Given the description of an element on the screen output the (x, y) to click on. 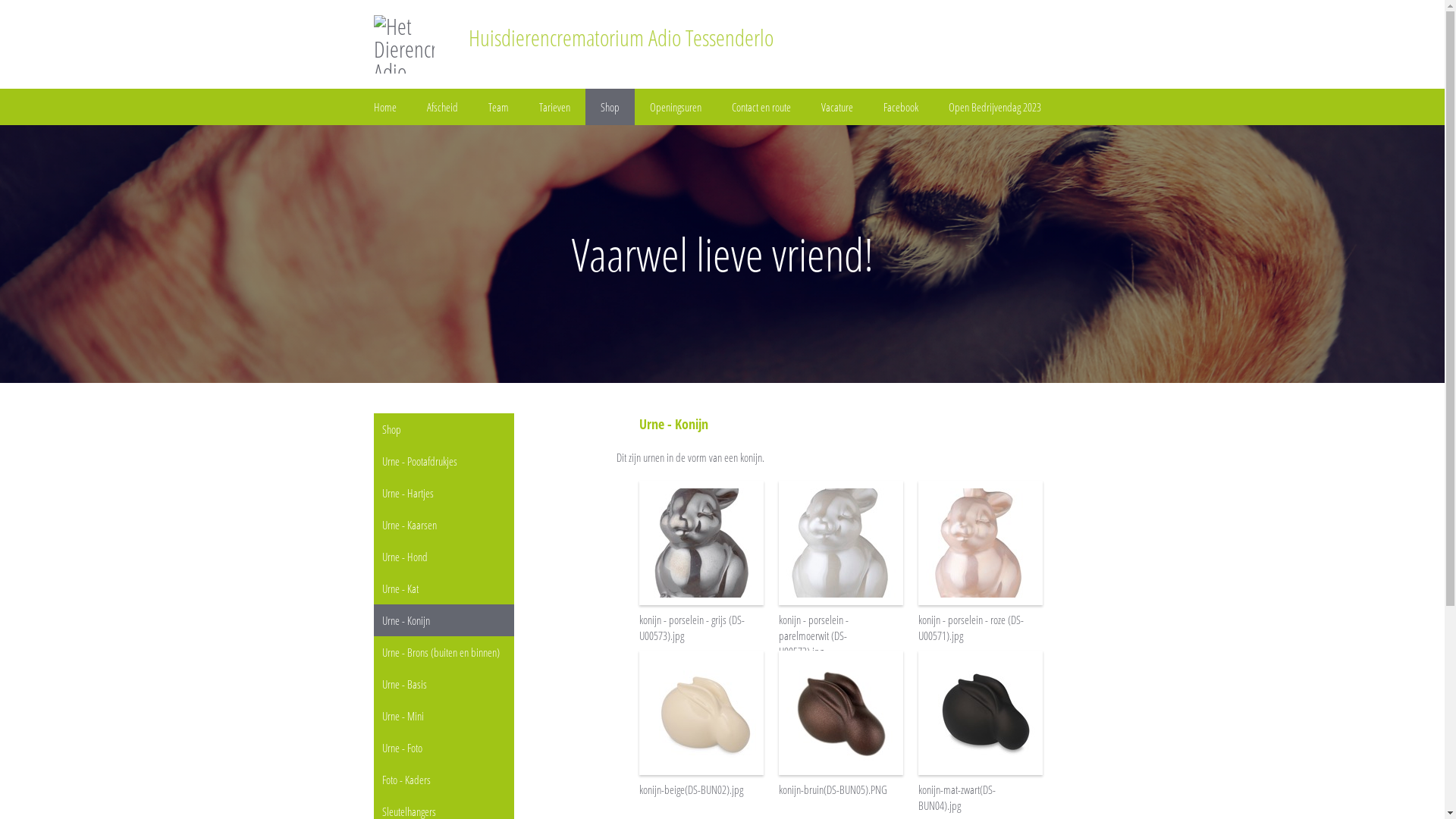
Urne - Pootafdrukjes Element type: text (443, 460)
Contact en route Element type: text (760, 106)
Urne - Hond Element type: text (443, 556)
Huisdierencrematorium Adio Tessenderlo Element type: text (602, 37)
Urne - Mini Element type: text (443, 715)
Urne - Foto Element type: text (443, 747)
Afscheid Element type: text (441, 106)
Shop Element type: text (443, 429)
Urne - Kaarsen Element type: text (443, 524)
Urne - Kat Element type: text (443, 588)
Urne - Basis Element type: text (443, 683)
Open Bedrijvendag 2023 Element type: text (993, 106)
Urne - Hartjes Element type: text (443, 492)
Shop Element type: text (609, 106)
Facebook Element type: text (899, 106)
Team Element type: text (498, 106)
Foto - Kaders Element type: text (443, 779)
Tarieven Element type: text (553, 106)
Urne - Brons (buiten en binnen) Element type: text (443, 652)
Vacature Element type: text (836, 106)
Openingsuren Element type: text (674, 106)
Urne - Konijn Element type: text (443, 620)
Home Element type: text (384, 106)
